Given the description of an element on the screen output the (x, y) to click on. 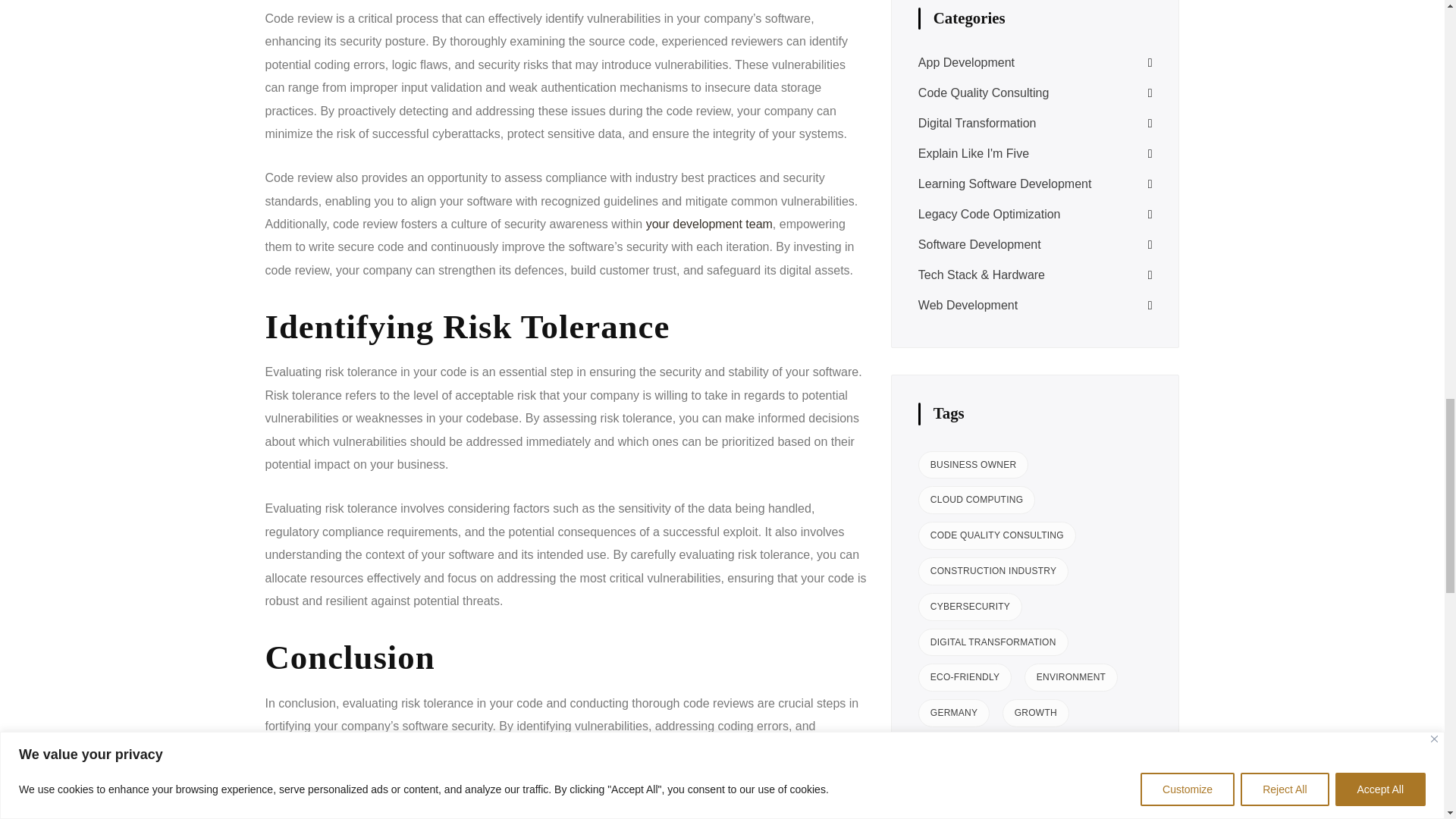
your development team (709, 223)
your development team (709, 223)
